Given the description of an element on the screen output the (x, y) to click on. 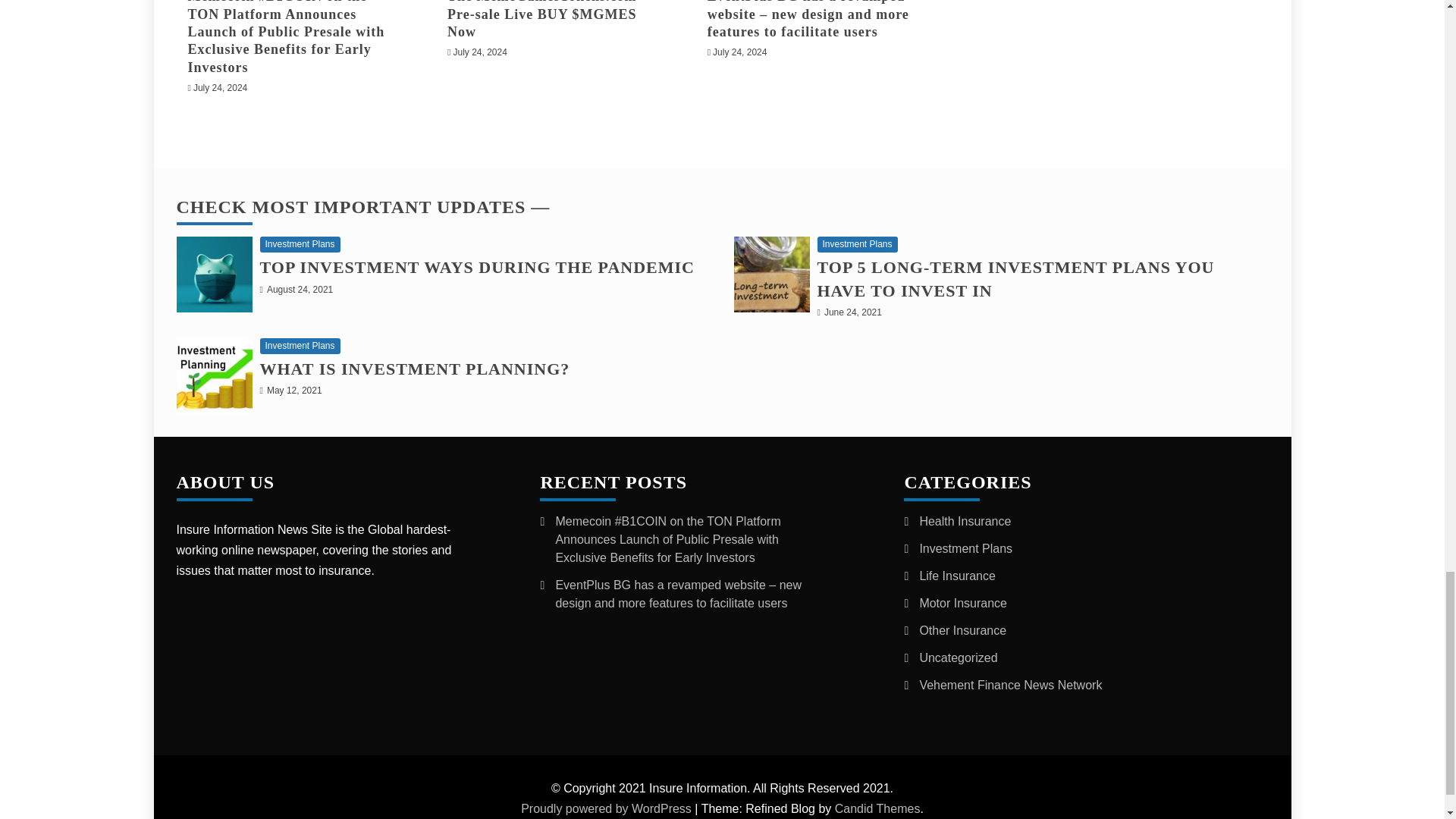
July 24, 2024 (479, 51)
July 24, 2024 (220, 87)
July 24, 2024 (740, 51)
